Given the description of an element on the screen output the (x, y) to click on. 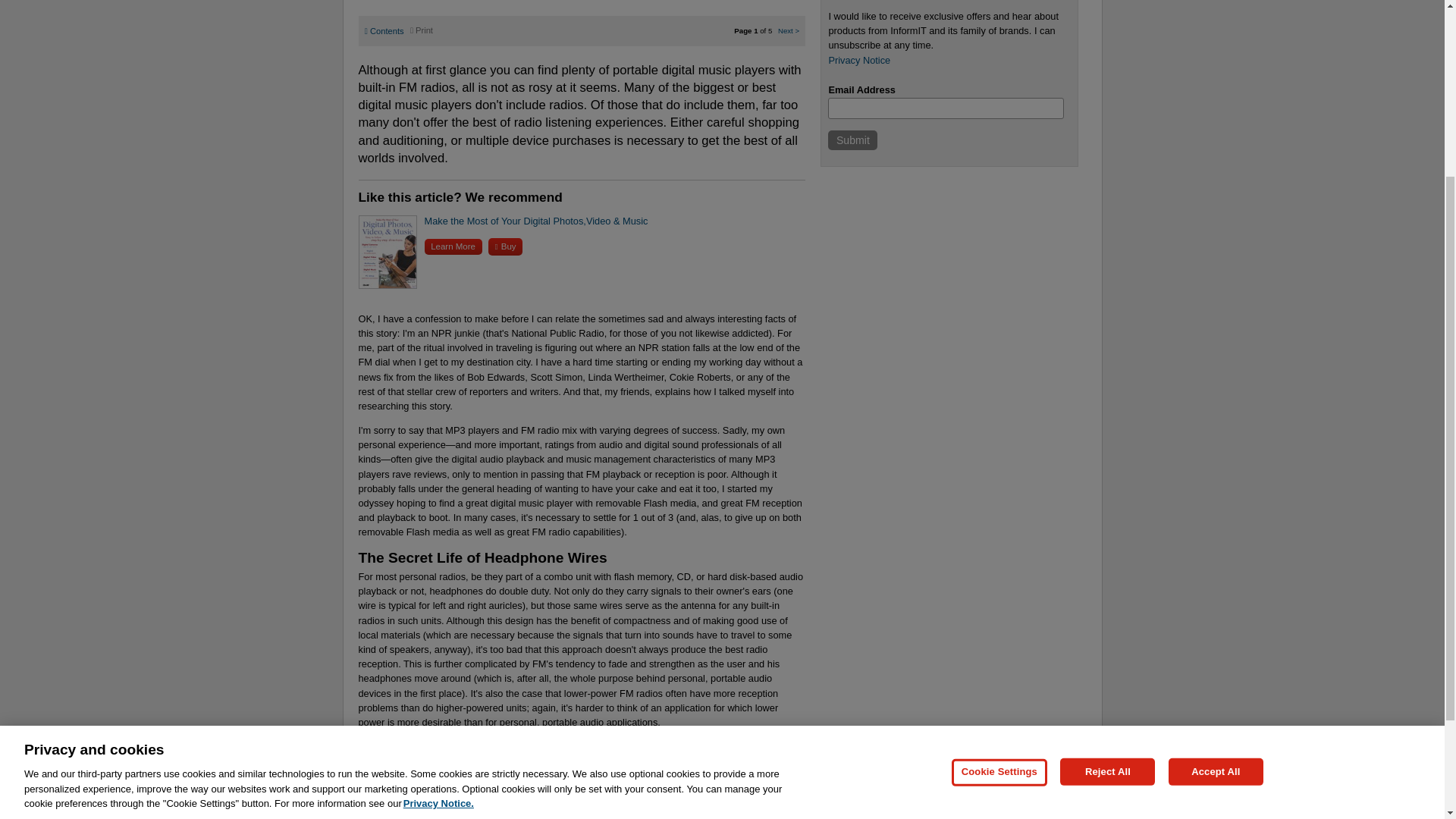
Learn More (453, 246)
Submit (852, 139)
Privacy Notice (858, 60)
Submit (852, 139)
Print (421, 30)
